Given the description of an element on the screen output the (x, y) to click on. 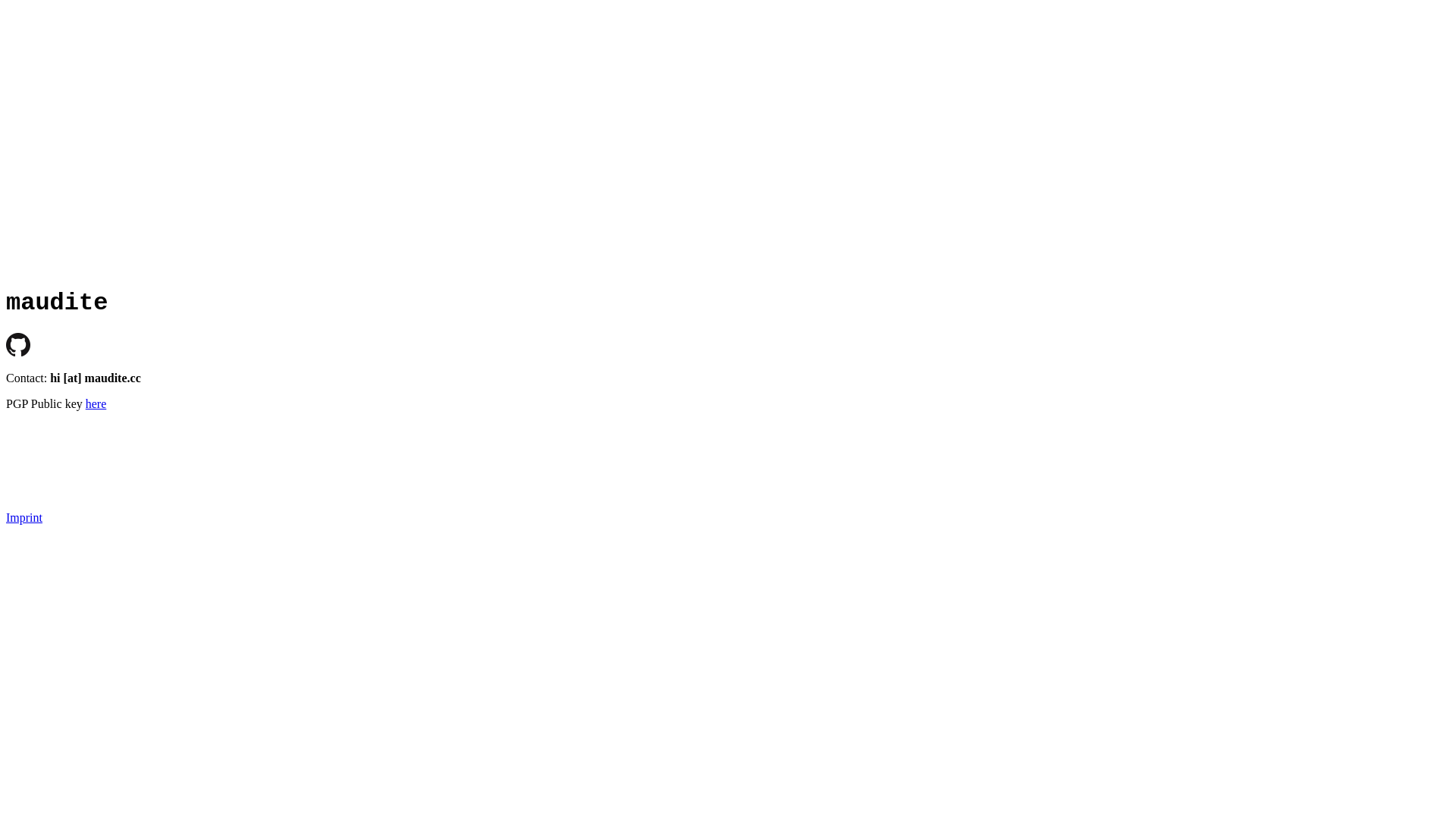
here Element type: text (95, 403)
Imprint Element type: text (24, 517)
